Given the description of an element on the screen output the (x, y) to click on. 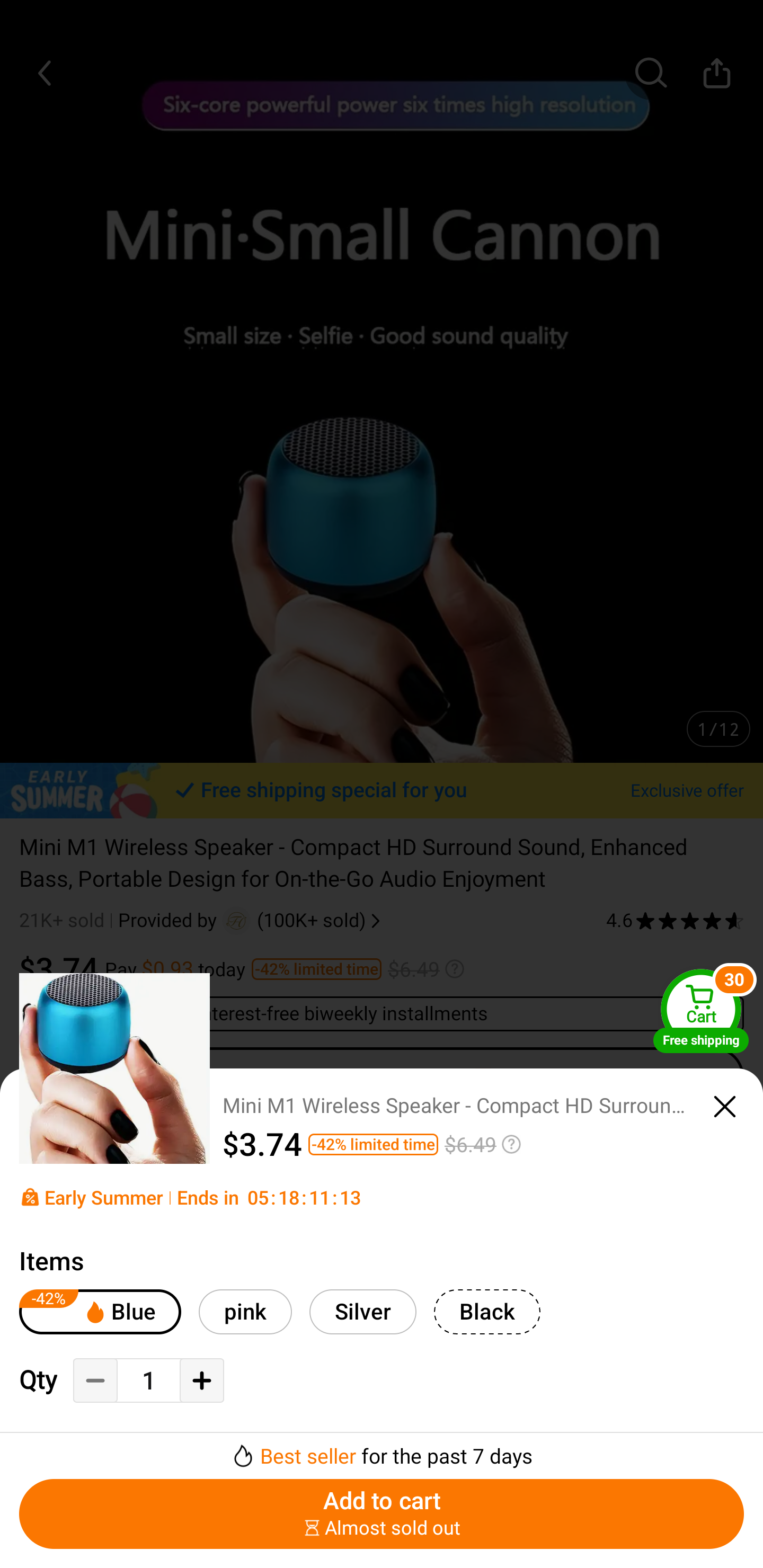
Cart Free shipping Cart (701, 1010)
close (724, 1106)
  Blue (100, 1311)
 pink (245, 1311)
 Silver (362, 1311)
 Black (487, 1311)
Decrease Quantity Button (95, 1380)
Add Quantity Button (201, 1380)
1 (148, 1381)
￼￼Best seller for the past 7 days (381, 1450)
Add to cart ￼￼Almost sold out (381, 1513)
